Given the description of an element on the screen output the (x, y) to click on. 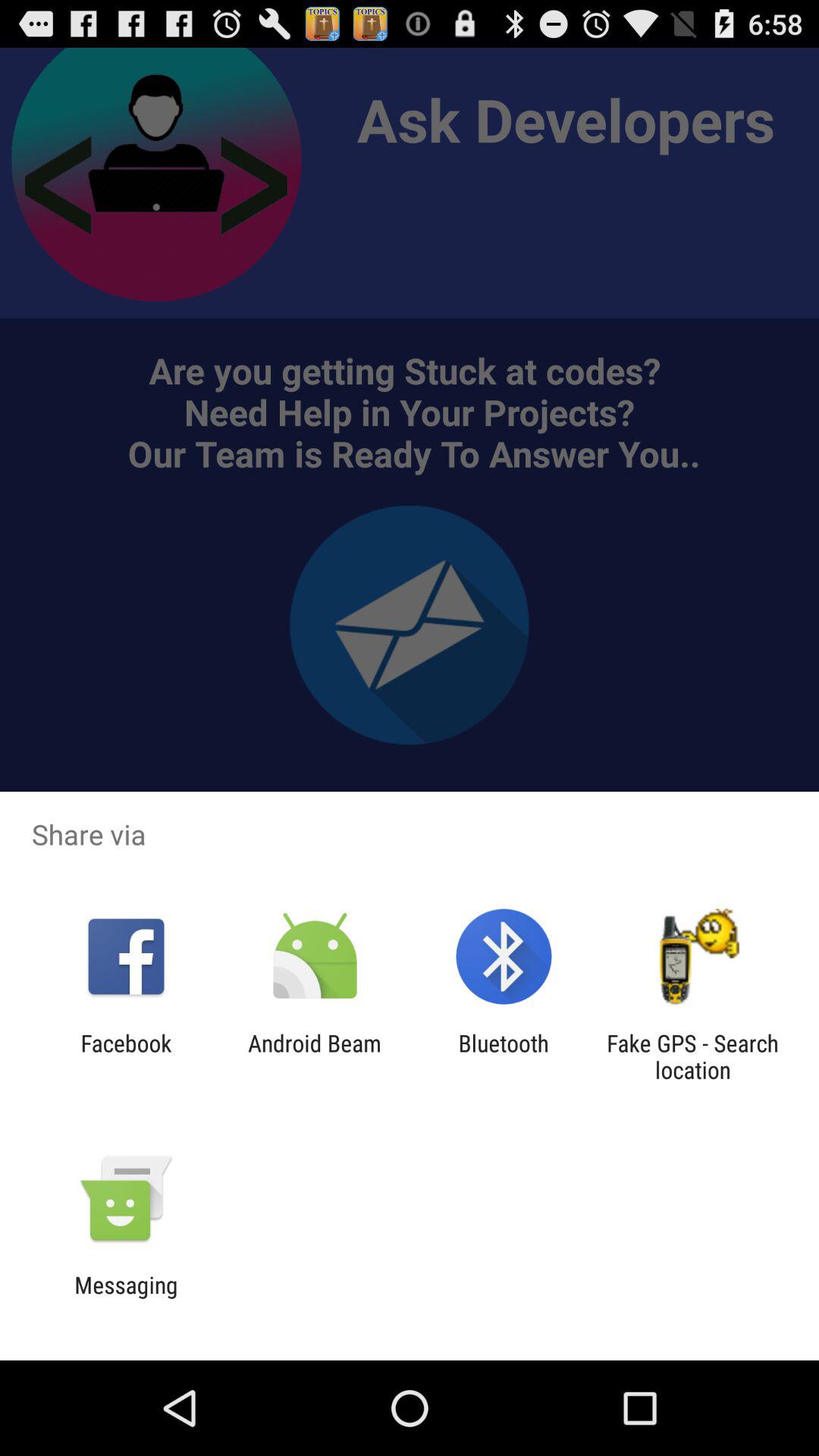
click facebook app (125, 1056)
